Given the description of an element on the screen output the (x, y) to click on. 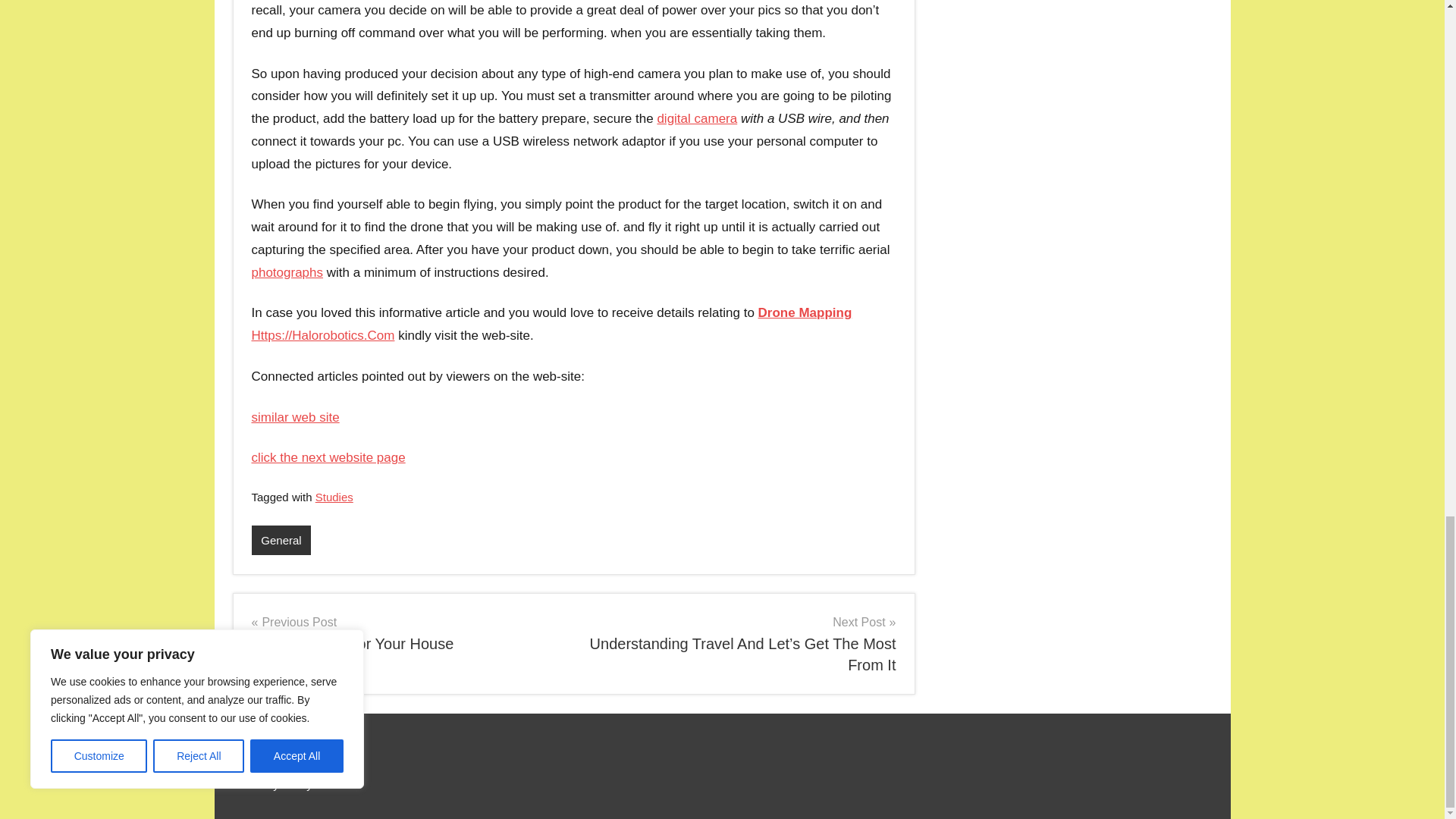
photographs (406, 632)
similar web site (287, 272)
General (295, 417)
digital camera (281, 540)
click the next website page (696, 118)
Studies (328, 457)
